Given the description of an element on the screen output the (x, y) to click on. 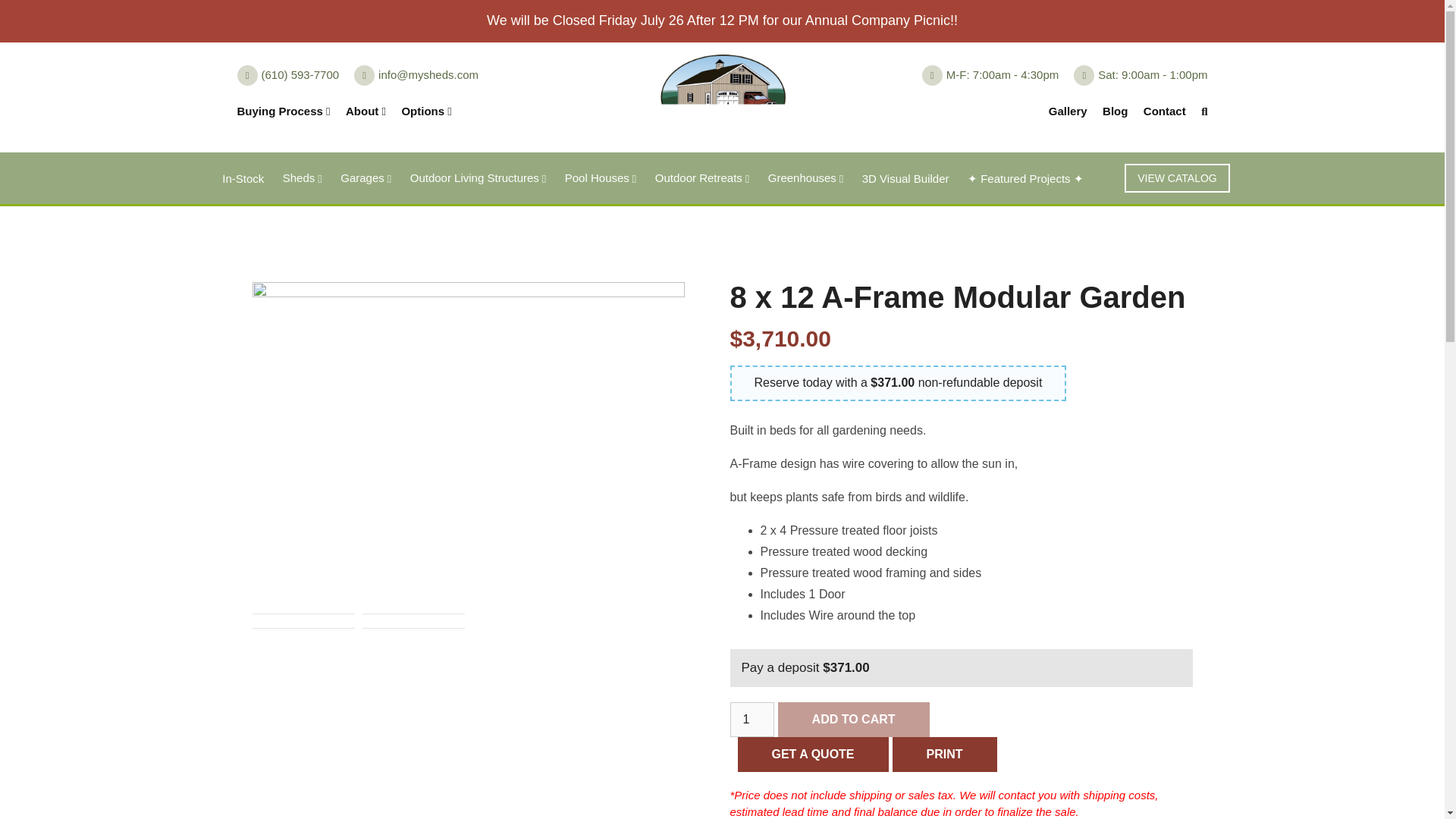
Outdoor Living Structures (478, 178)
Garages (365, 178)
modular garden (303, 716)
Contact (1164, 111)
Elite (831, 234)
Buying Process (282, 111)
1 (751, 719)
Elite (649, 234)
EZ Shade (826, 234)
Single Car (518, 239)
Options (426, 111)
Storage (585, 265)
modular garden int (413, 716)
Pergolas (577, 234)
